Given the description of an element on the screen output the (x, y) to click on. 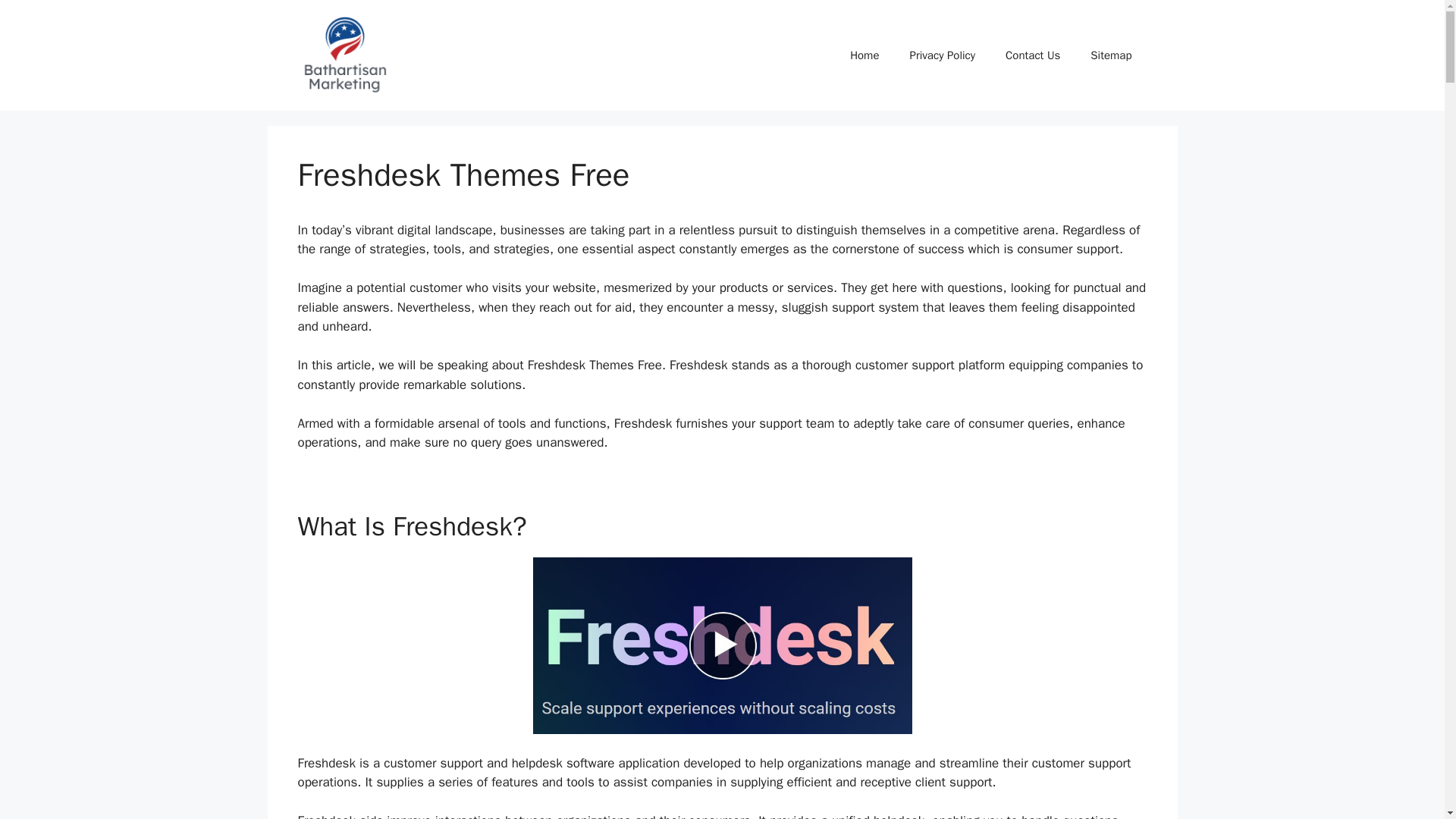
Privacy Policy (941, 54)
Sitemap (1111, 54)
Home (863, 54)
Contact Us (1032, 54)
